Given the description of an element on the screen output the (x, y) to click on. 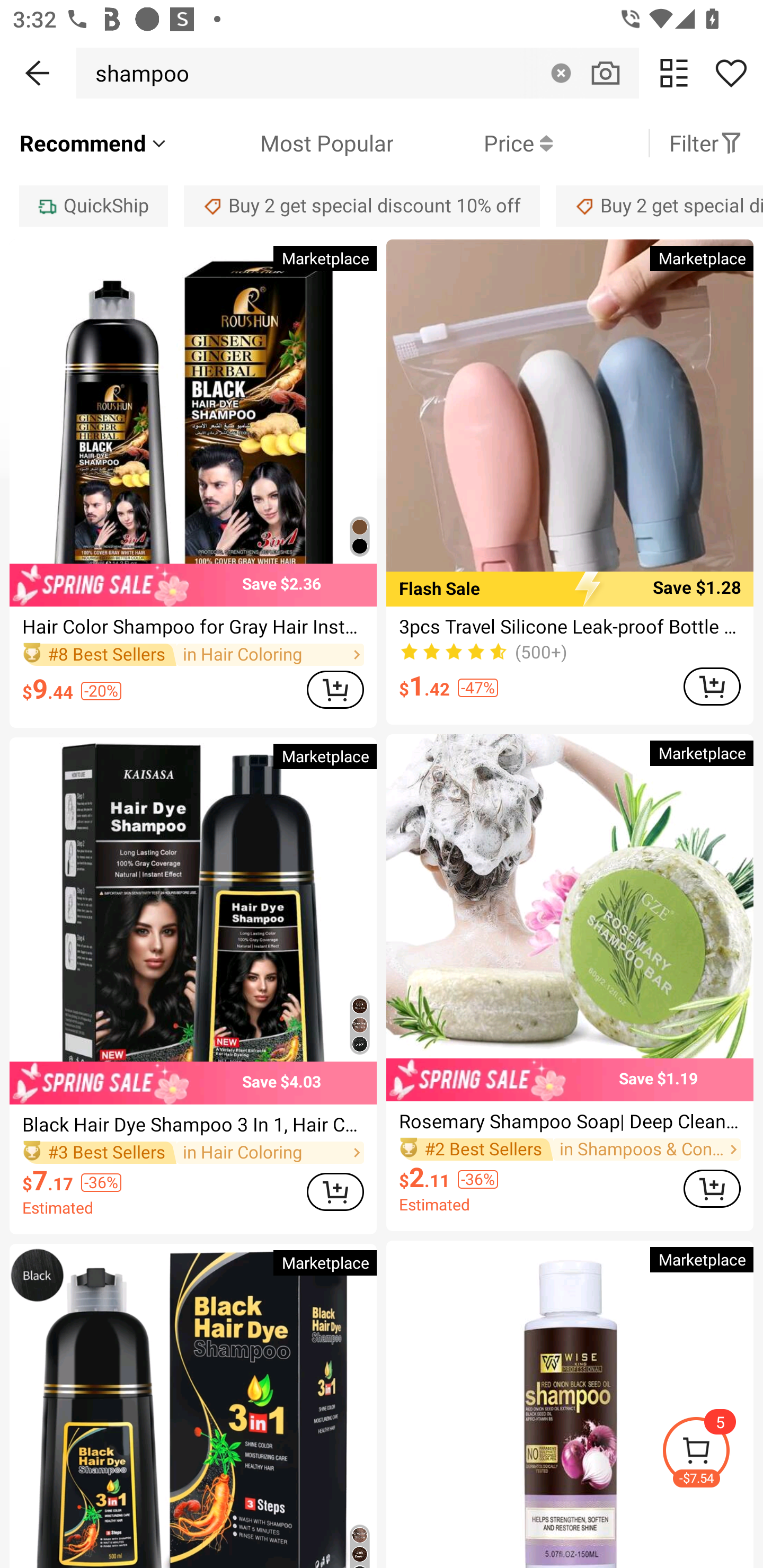
shampoo (137, 72)
Clear (560, 72)
change view (673, 72)
Share (730, 72)
Recommend (94, 143)
Most Popular (280, 143)
Price (472, 143)
Filter (705, 143)
QuickShip (93, 206)
Buy 2 get special discount 10% off (361, 206)
Buy 2 get special discount 30% off (659, 206)
#8 Best Sellers in Hair Coloring (192, 654)
ADD TO CART (711, 686)
ADD TO CART (334, 689)
#2 Best Sellers in Shampoos & Conditioners (569, 1148)
#3 Best Sellers in Hair Coloring (192, 1152)
ADD TO CART (711, 1188)
ADD TO CART (334, 1191)
-$7.54 (712, 1452)
